Given the description of an element on the screen output the (x, y) to click on. 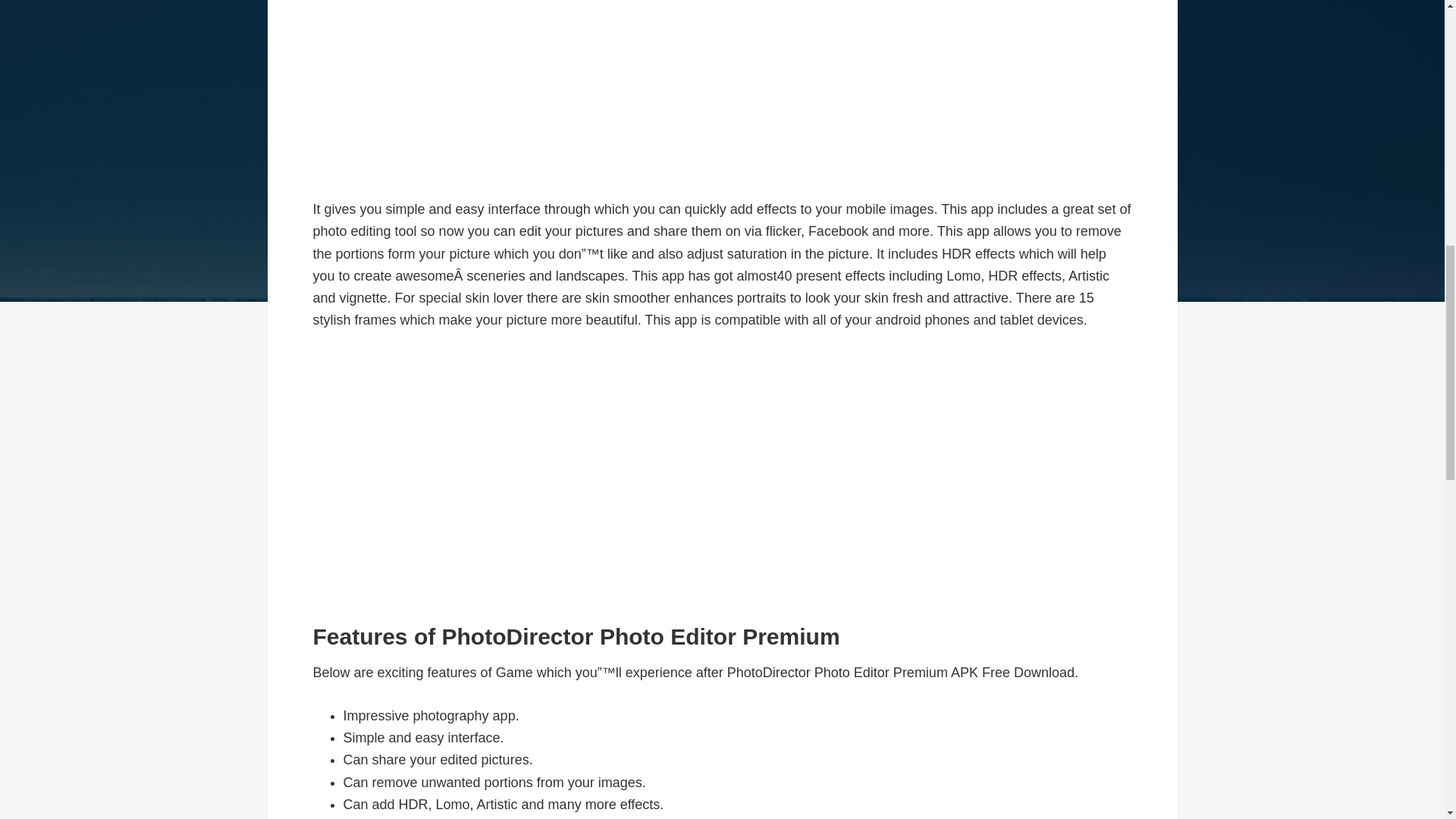
PhotoDirector Photo Editor Premium APK Free Download (722, 88)
PhotoDirector Photo Editor Premium APK Features (722, 476)
